Given the description of an element on the screen output the (x, y) to click on. 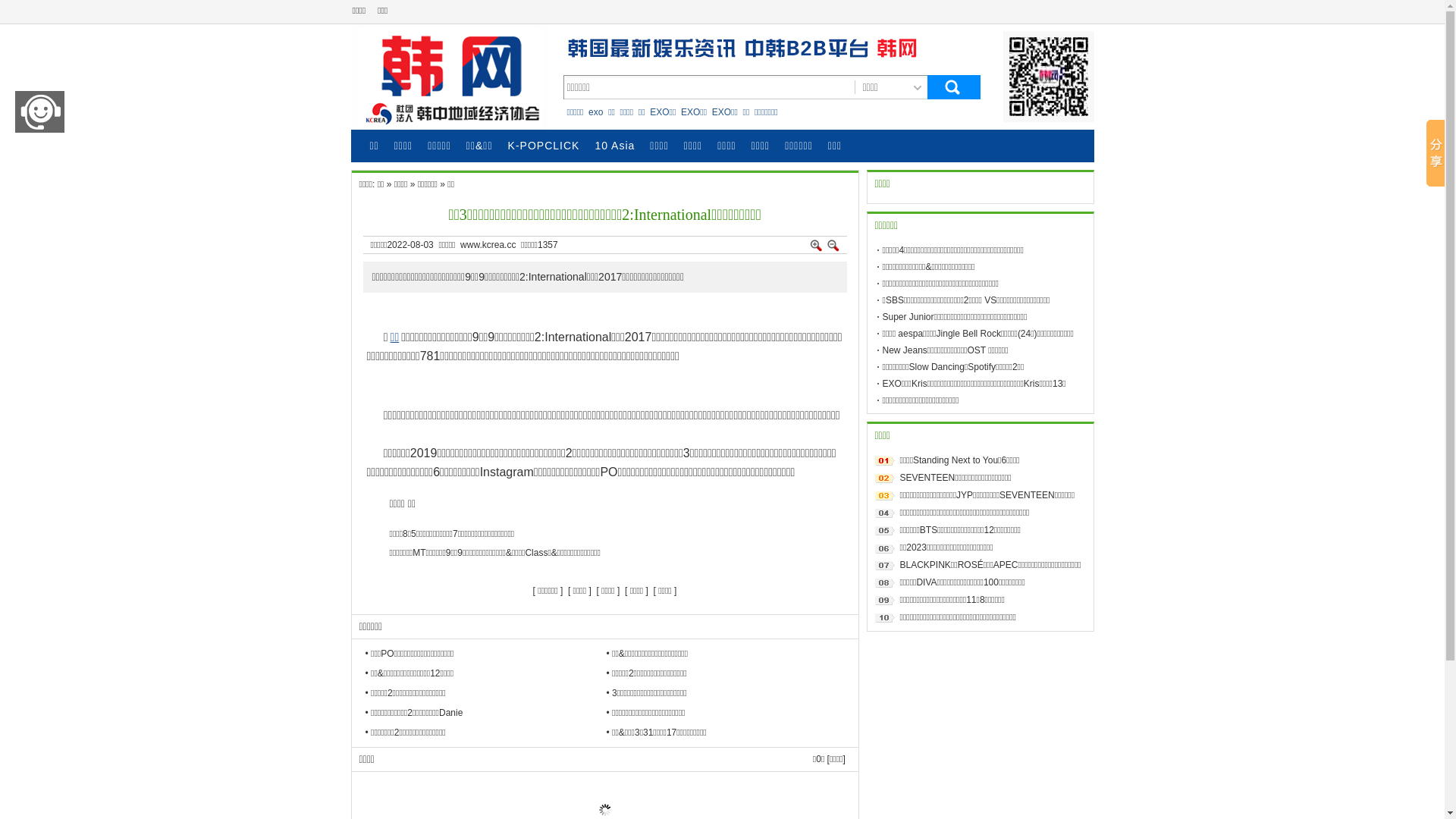
  Element type: text (952, 87)
exo Element type: text (595, 111)
10 Asia Element type: text (614, 145)
K-POPCLICK Element type: text (543, 145)
